Given the description of an element on the screen output the (x, y) to click on. 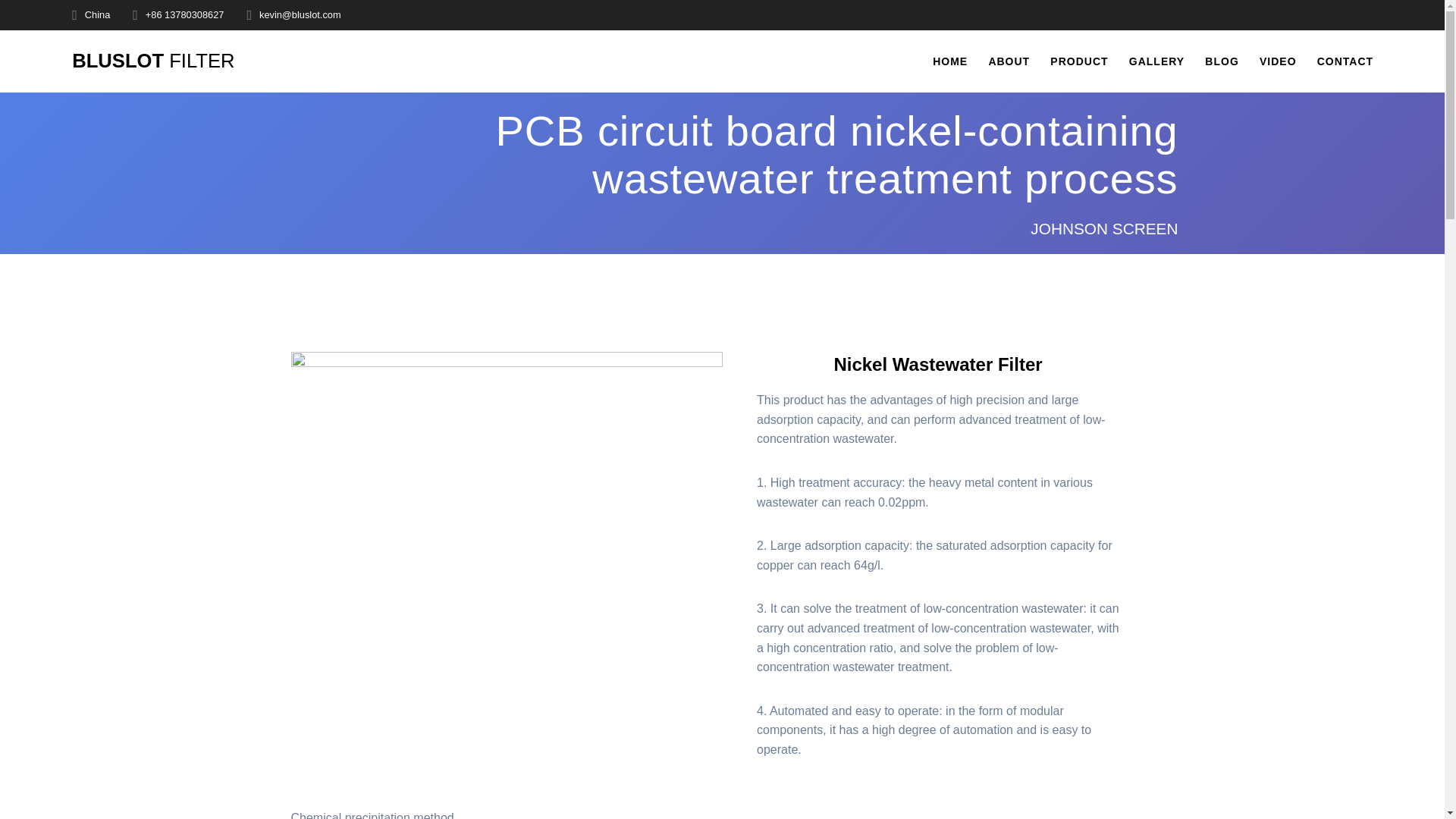
GALLERY (1157, 61)
BLUSLOT FILTER (152, 61)
CONTACT (1345, 61)
VIDEO (1278, 61)
HOME (950, 61)
ABOUT (1008, 61)
PRODUCT (1078, 61)
BLOG (1222, 61)
